Given the description of an element on the screen output the (x, y) to click on. 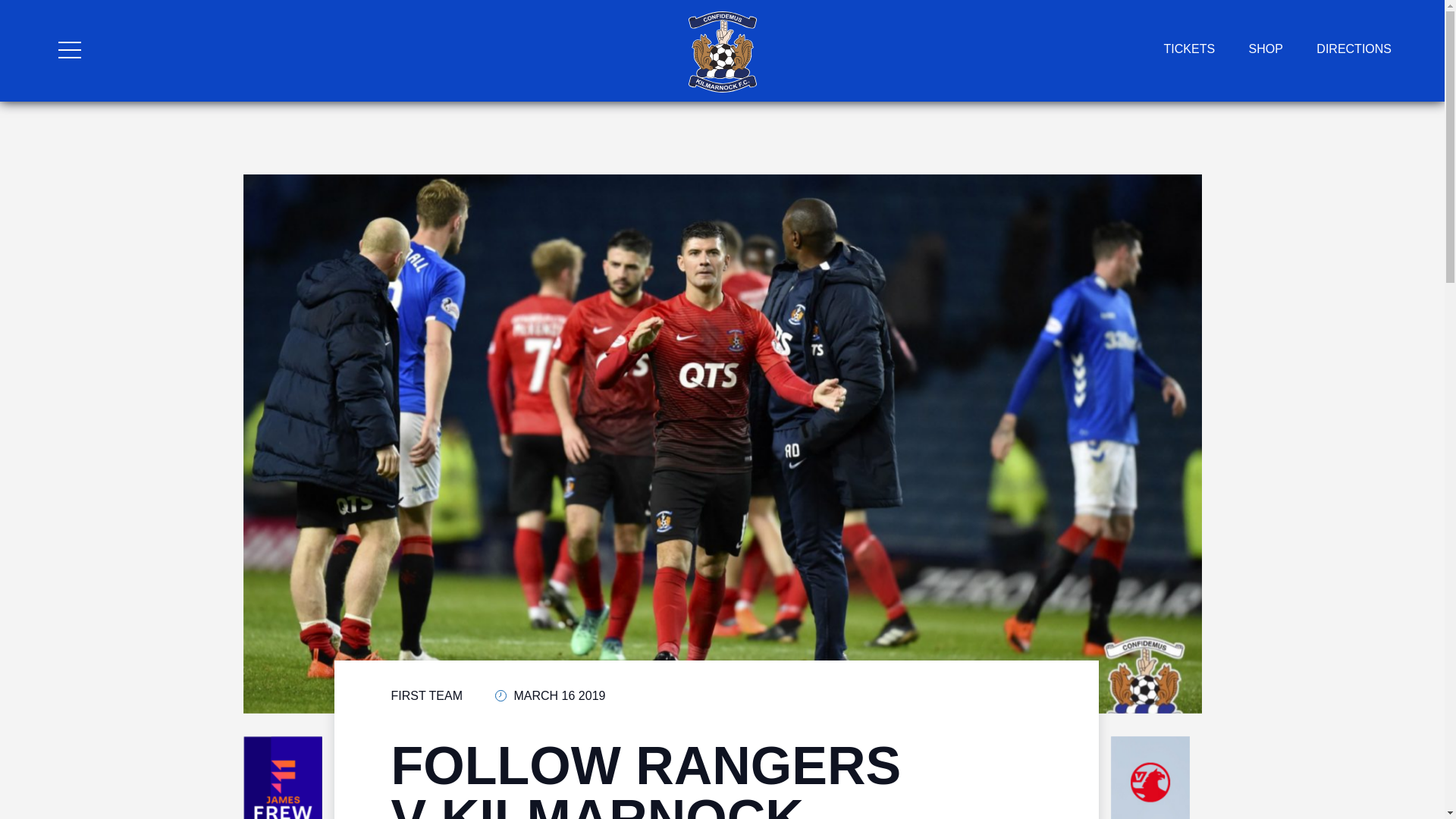
TICKETS (1189, 49)
DIRECTIONS (1353, 49)
SHOP (1265, 49)
